Given the description of an element on the screen output the (x, y) to click on. 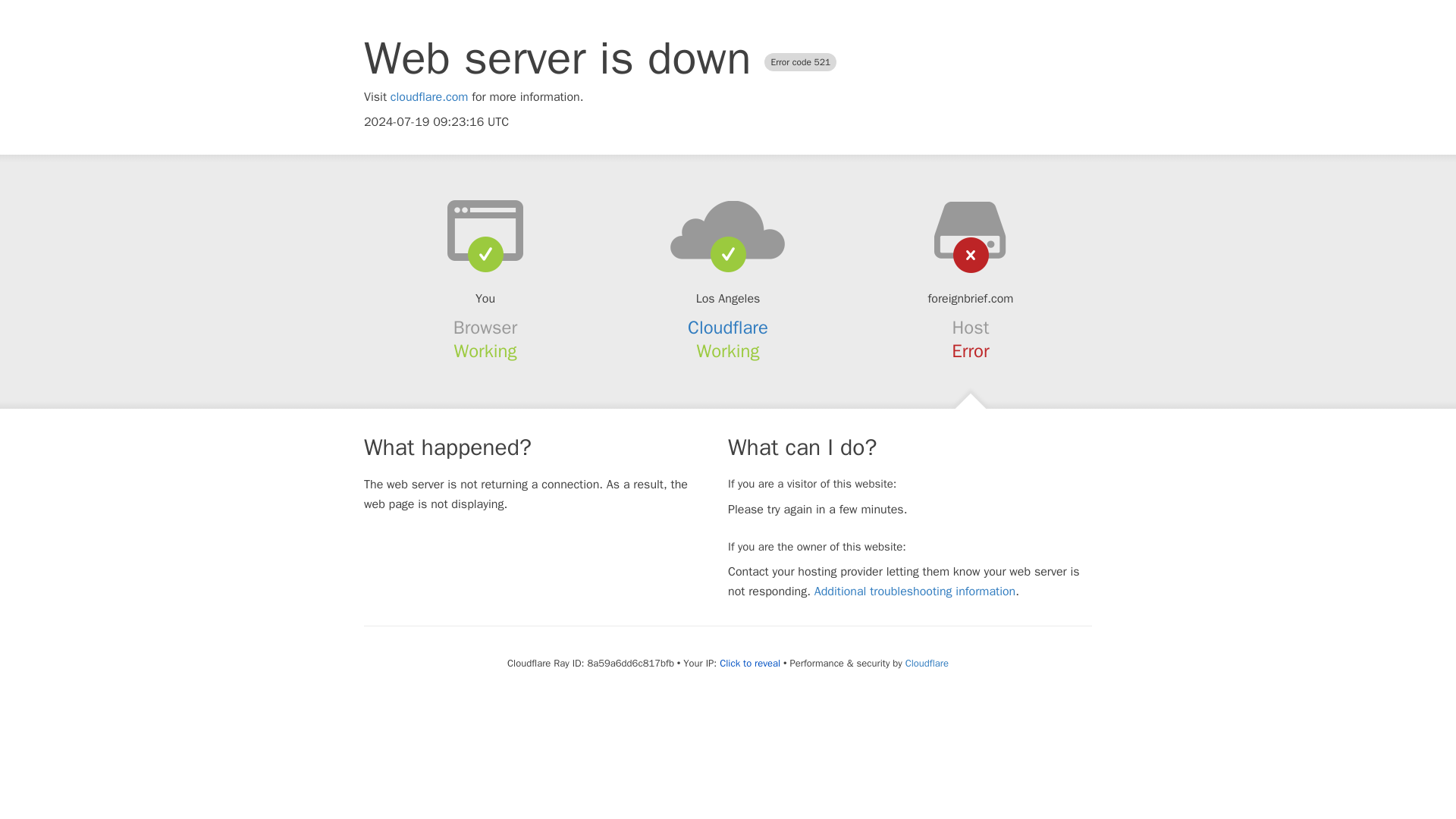
Cloudflare (927, 662)
cloudflare.com (429, 96)
Cloudflare (727, 327)
Click to reveal (749, 663)
Additional troubleshooting information (913, 590)
